Given the description of an element on the screen output the (x, y) to click on. 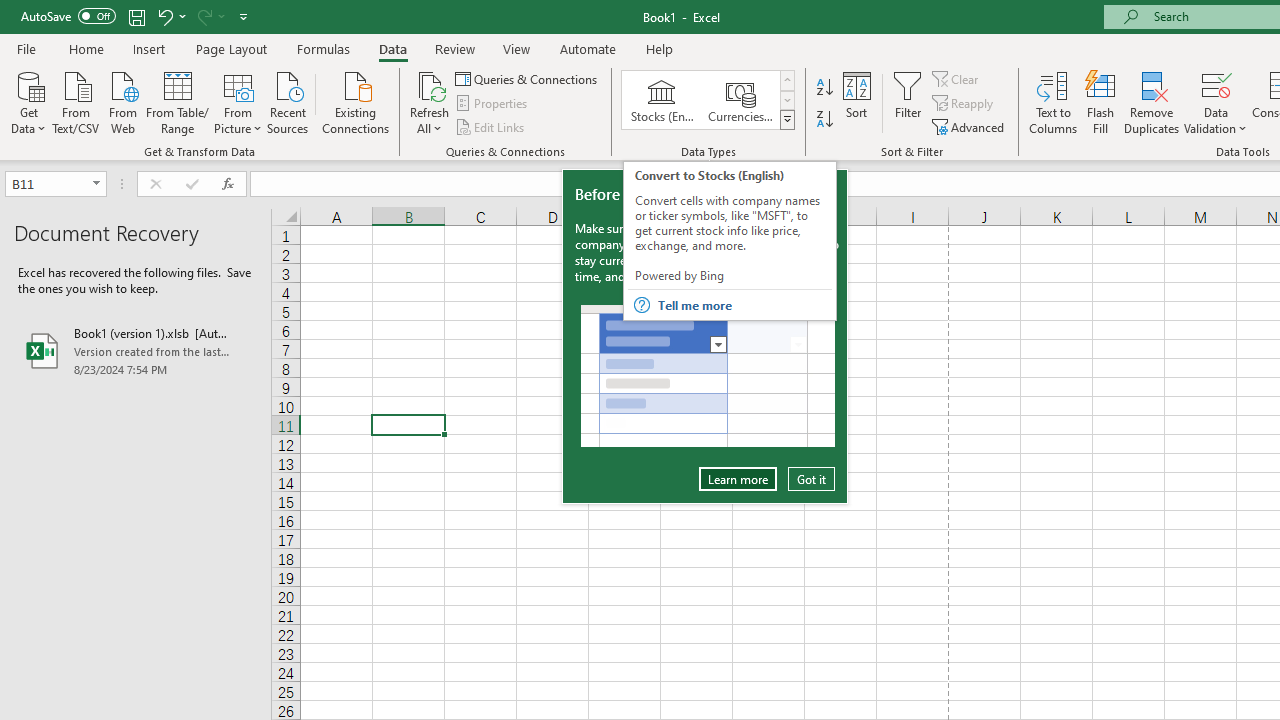
Got it (811, 479)
